Given the description of an element on the screen output the (x, y) to click on. 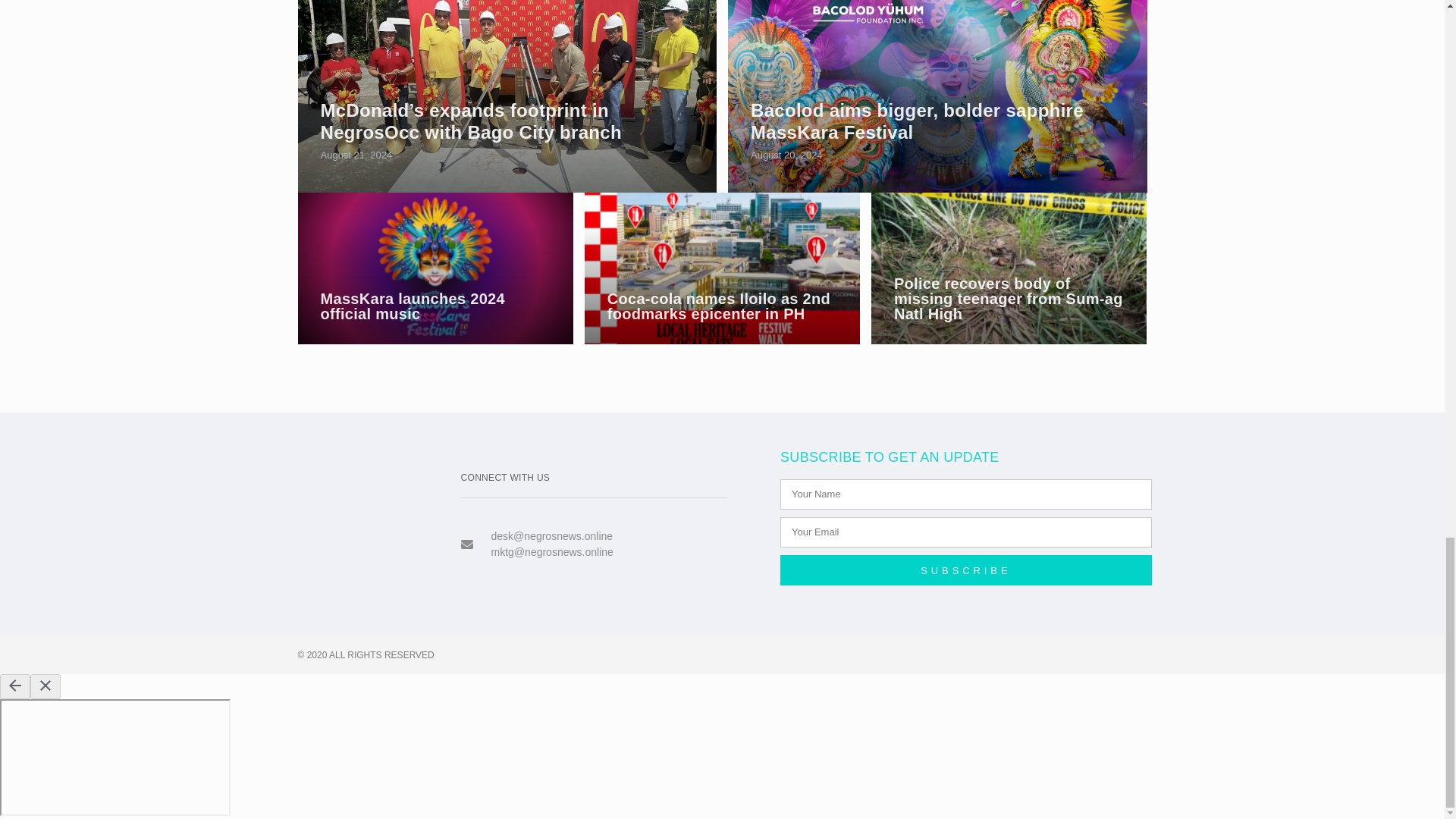
Bacolod aims bigger, bolder sapphire MassKara Festival (917, 120)
MassKara launches 2024 official music (434, 267)
Coca-cola names Iloilo as 2nd foodmarks epicenter in PH (718, 306)
Bacolod aims bigger, bolder sapphire MassKara Festival (917, 120)
MassKara launches 2024 official music (411, 306)
Bacolod aims bigger, bolder sapphire MassKara Festival (937, 96)
SUBSCRIBE (965, 570)
Coca-cola names Iloilo as 2nd foodmarks epicenter in PH (722, 267)
